Given the description of an element on the screen output the (x, y) to click on. 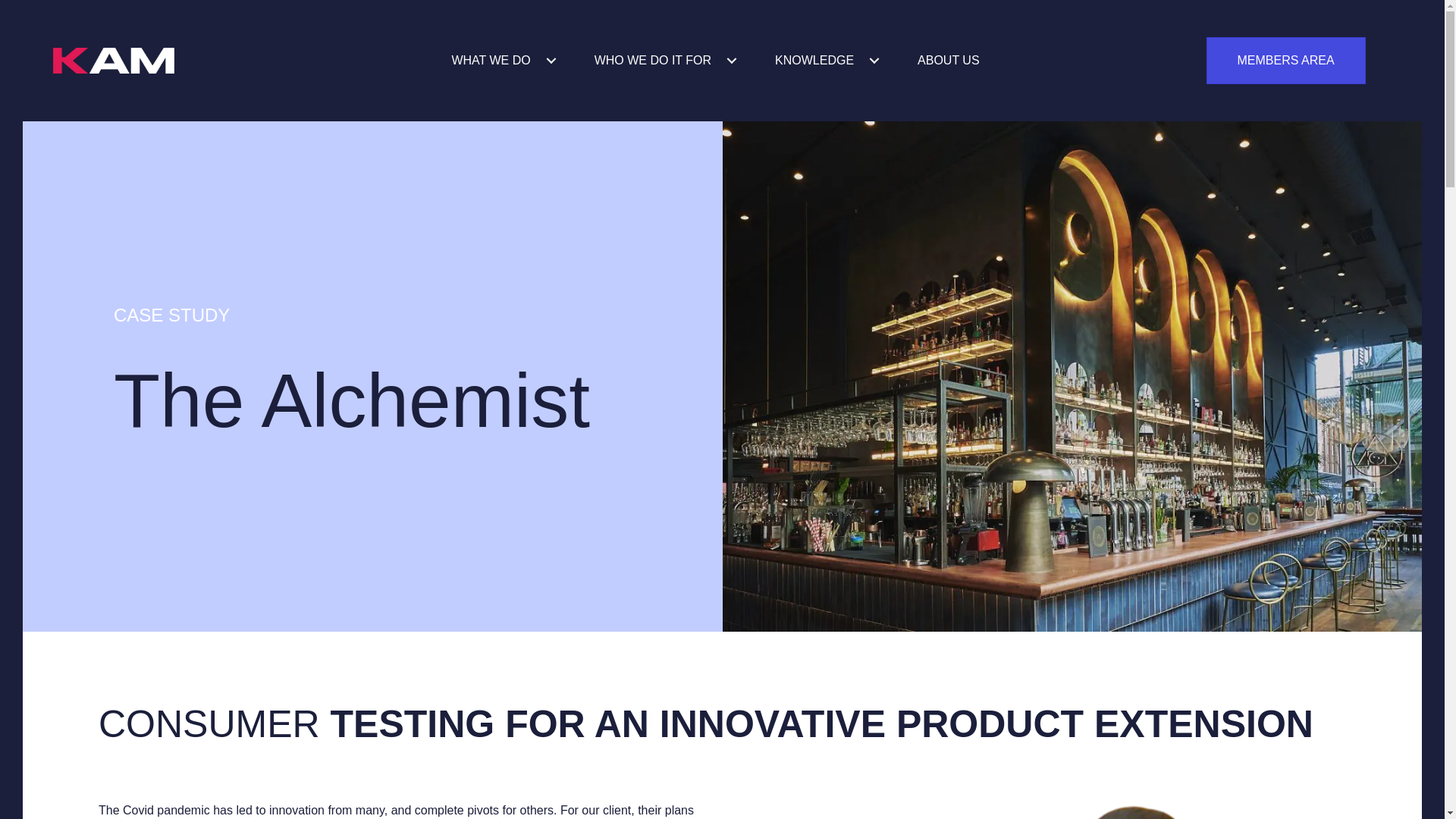
WHAT WE DO (502, 60)
KAM Logo New White (113, 60)
KNOWLEDGE (827, 60)
ABOUT US (948, 60)
WHO WE DO IT FOR (665, 60)
